Given the description of an element on the screen output the (x, y) to click on. 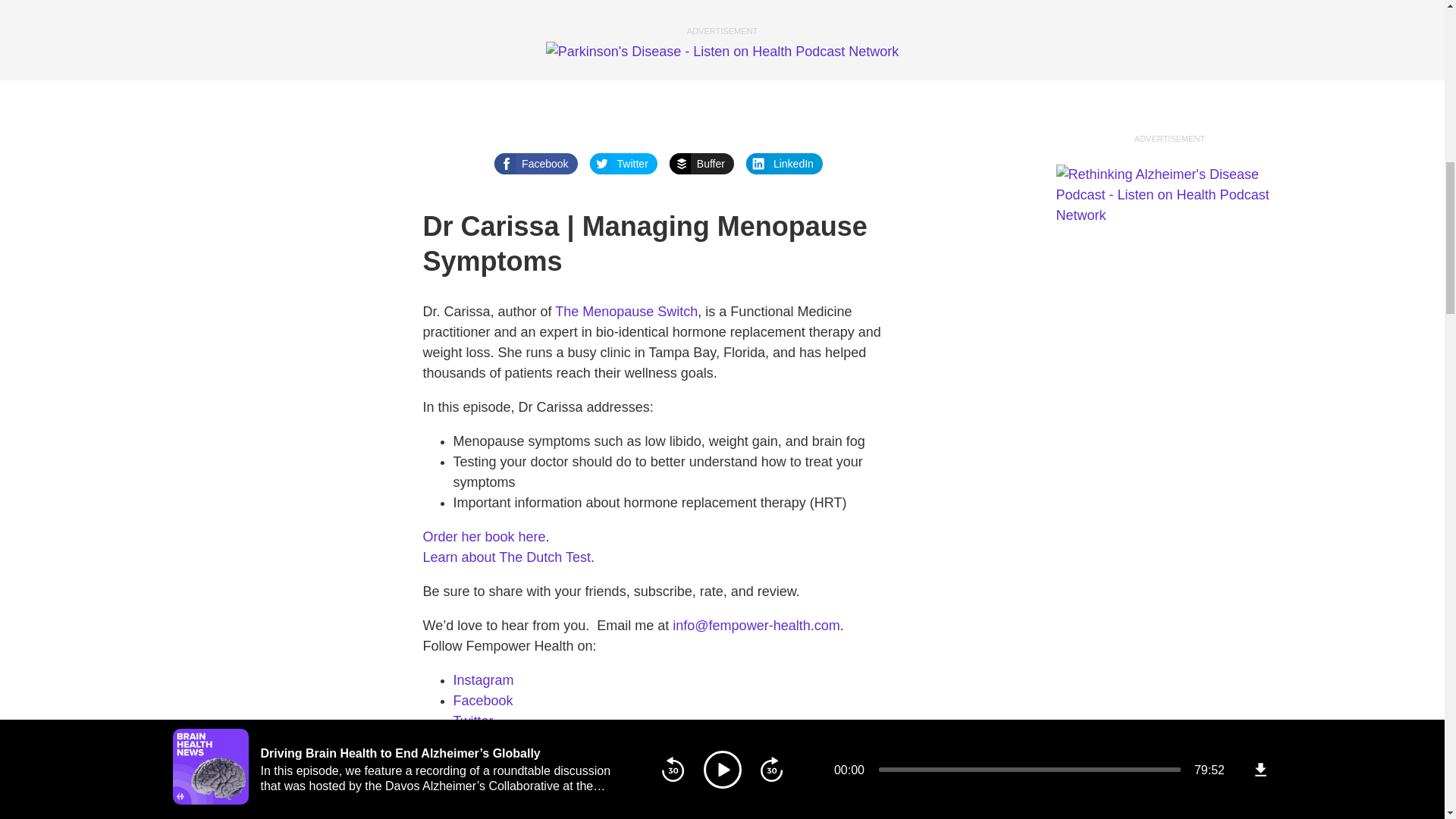
Instagram (482, 679)
Learn about The Dutch Test (507, 557)
Order her book here (484, 536)
Facebook (482, 700)
Buffer (701, 163)
Twitter (472, 720)
Twitter (623, 163)
The Menopause Switch (625, 311)
Facebook (535, 163)
LinkedIn (783, 163)
